Given the description of an element on the screen output the (x, y) to click on. 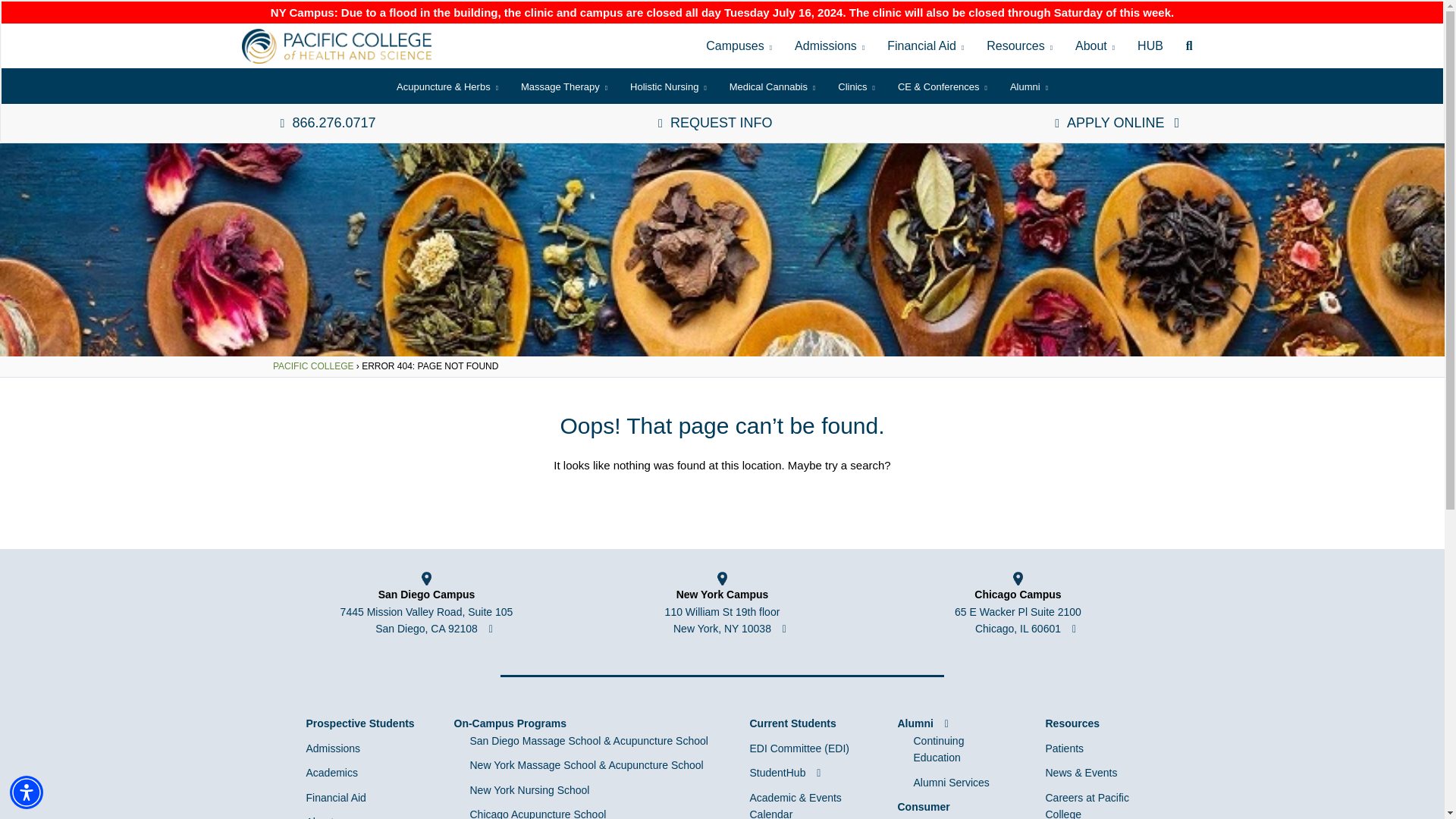
Accessibility Menu (26, 792)
Admissions (829, 46)
Home page link (335, 45)
Campuses link (738, 46)
Financial Aid (924, 46)
Campuses (738, 46)
